Given the description of an element on the screen output the (x, y) to click on. 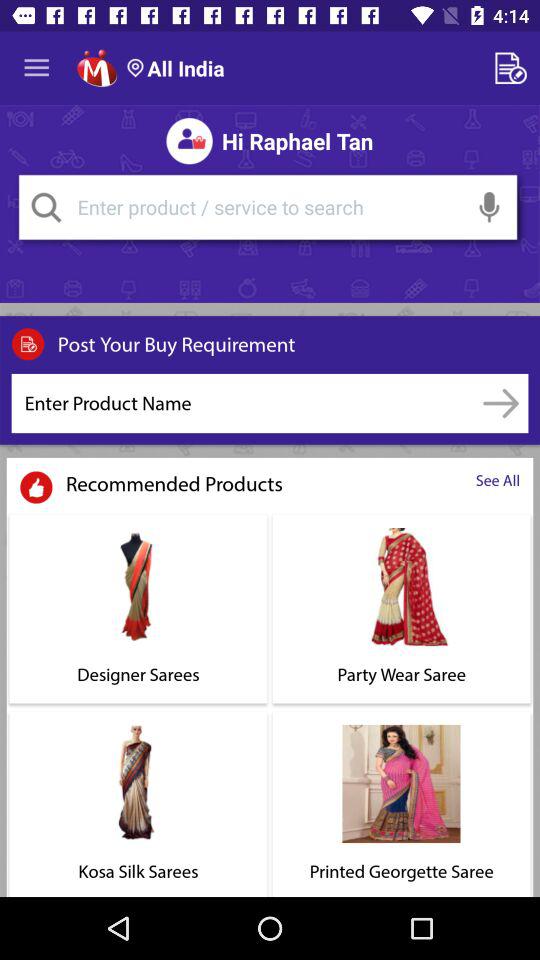
click to notepad (514, 68)
